Given the description of an element on the screen output the (x, y) to click on. 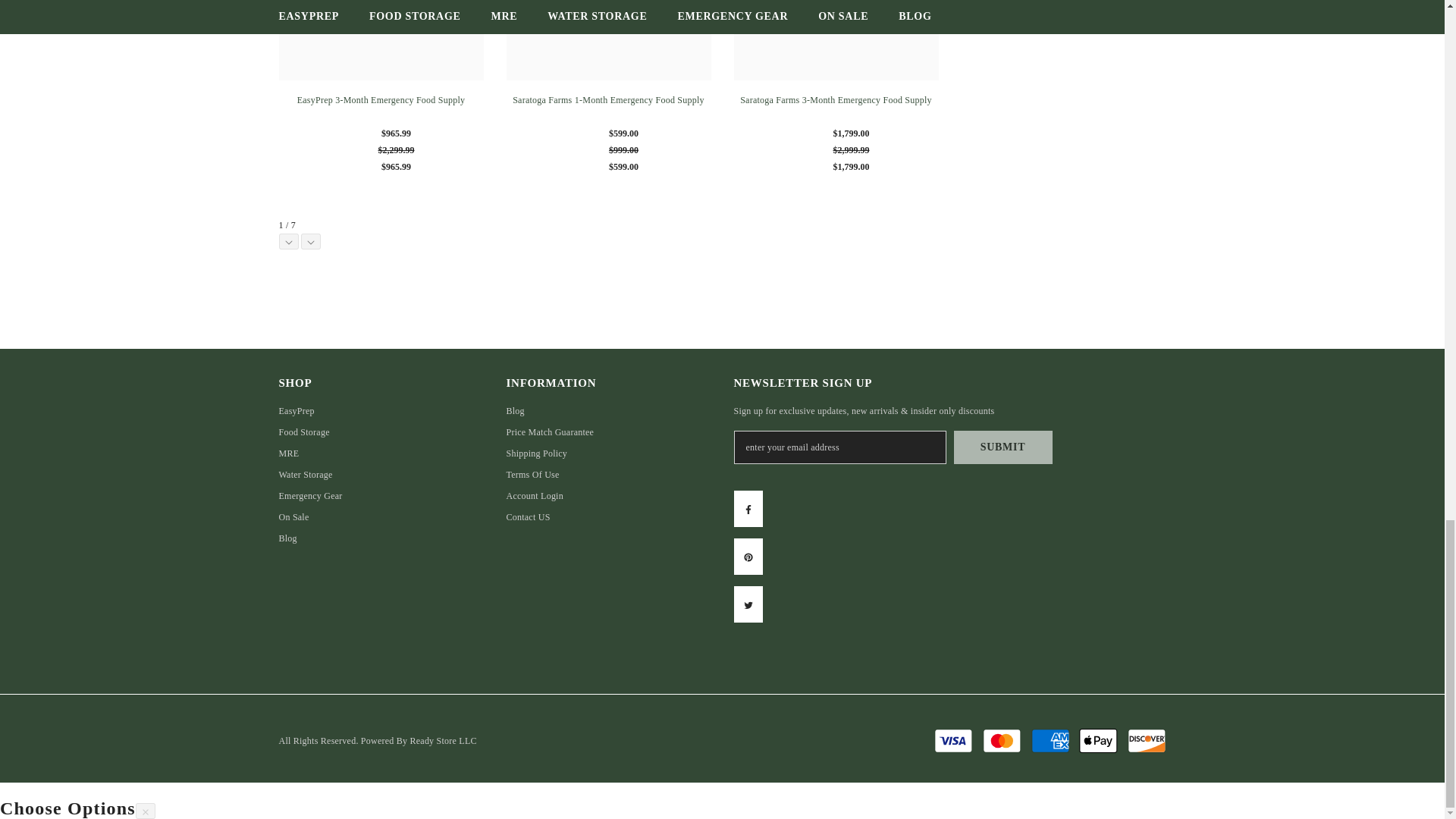
Mastercard (1001, 740)
Discover (1146, 740)
American Express (1050, 740)
Visa (953, 740)
Apple Pay (1098, 740)
